Given the description of an element on the screen output the (x, y) to click on. 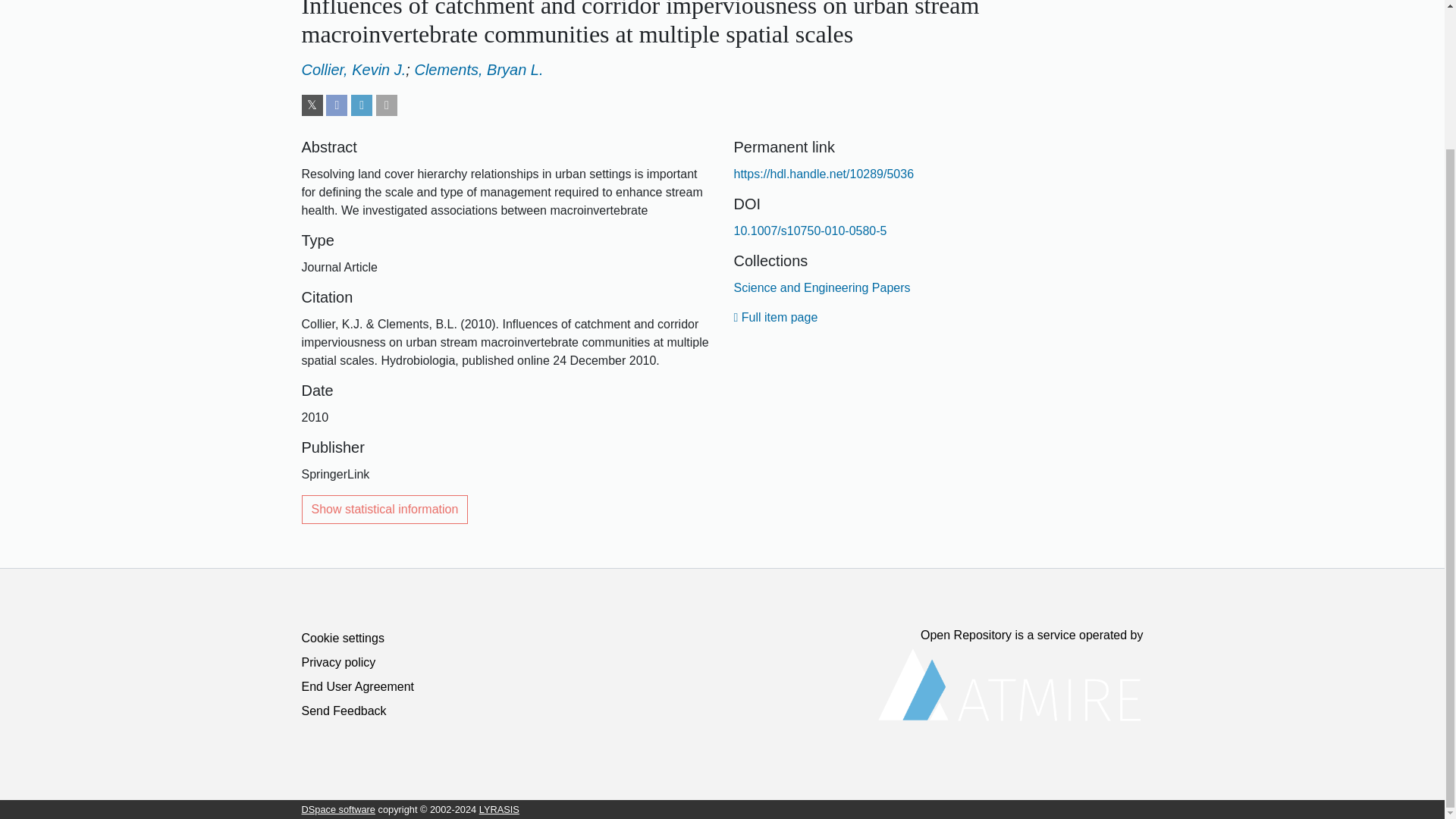
Clements, Bryan L. (478, 69)
Full item page (775, 317)
Show statistical information (384, 509)
Cookie settings (342, 637)
End User Agreement (357, 686)
Science and Engineering Papers (822, 287)
Privacy policy (338, 662)
Collier, Kevin J. (353, 69)
